Given the description of an element on the screen output the (x, y) to click on. 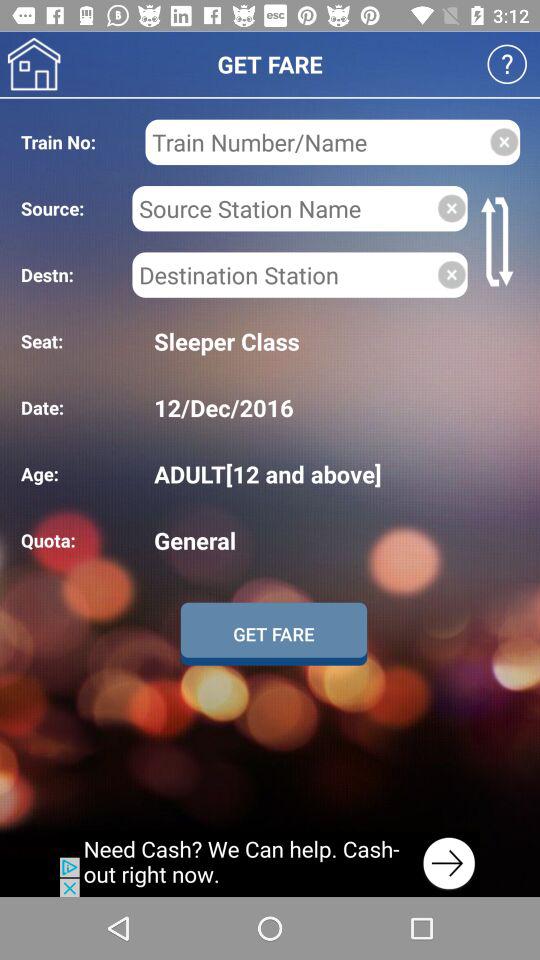
clear information (504, 141)
